Given the description of an element on the screen output the (x, y) to click on. 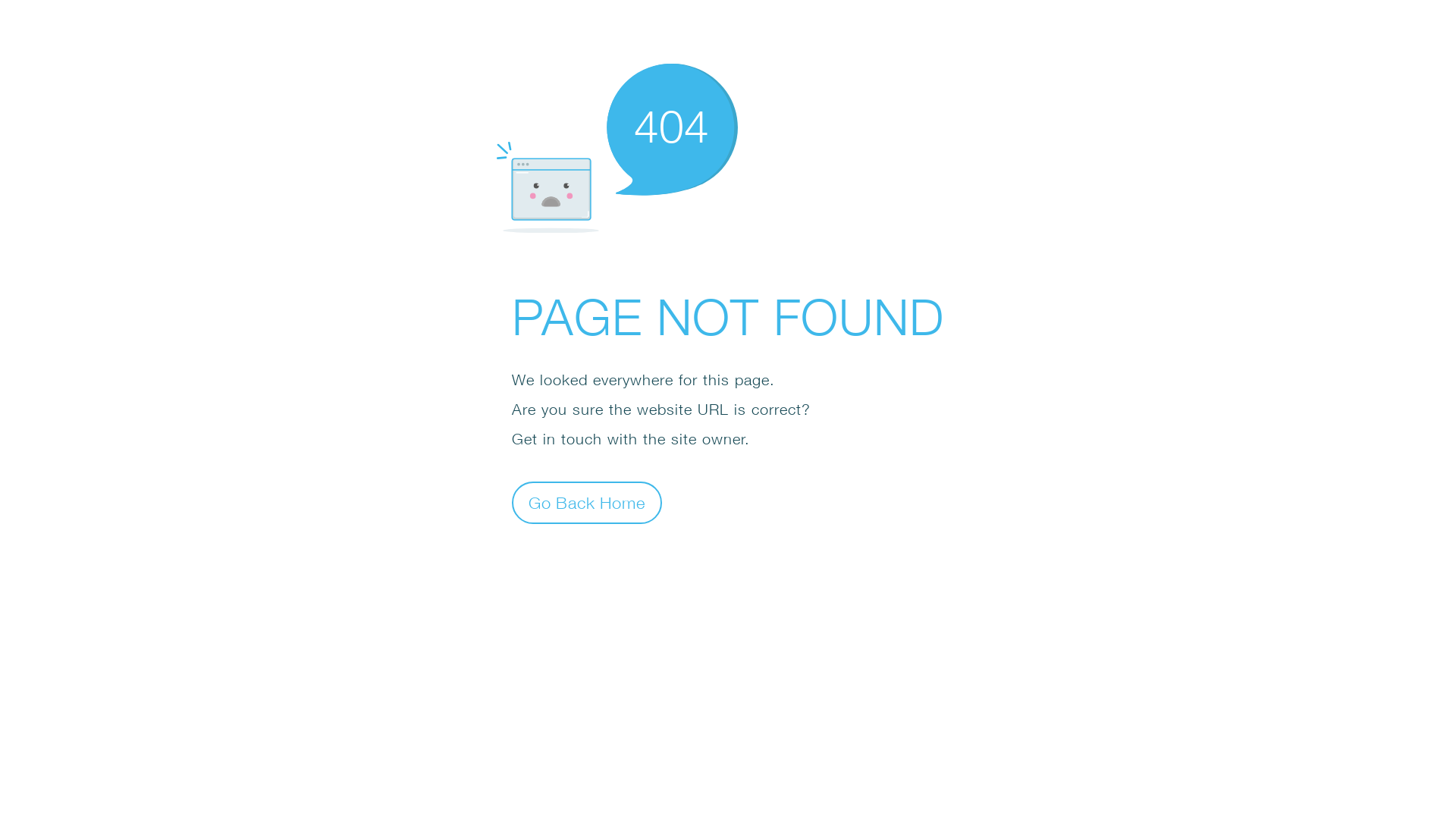
Go Back Home Element type: text (586, 502)
